Given the description of an element on the screen output the (x, y) to click on. 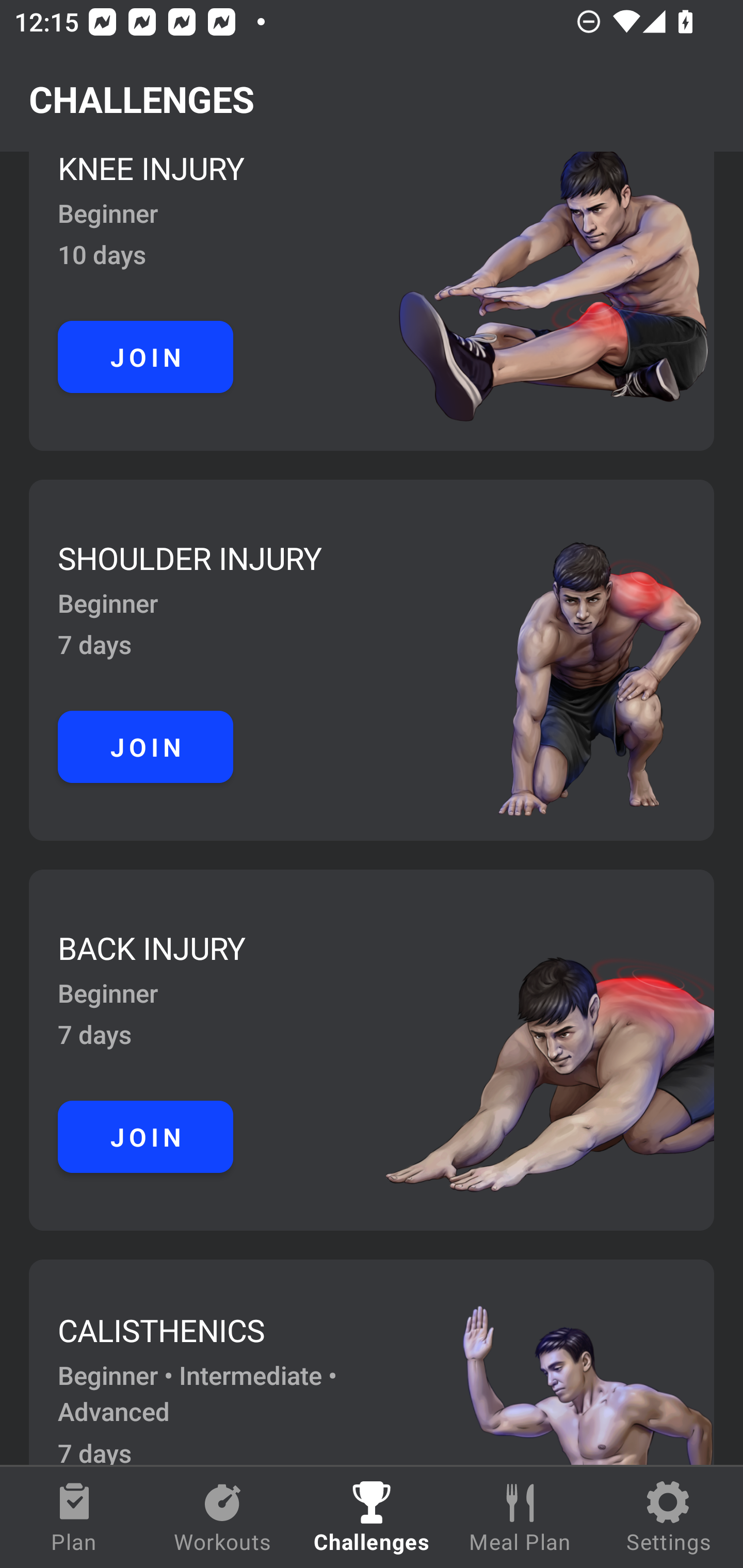
JOIN (145, 356)
JOIN (145, 747)
JOIN (145, 1136)
 Plan  (74, 1517)
 Workouts  (222, 1517)
 Meal Plan  (519, 1517)
 Settings  (668, 1517)
